Given the description of an element on the screen output the (x, y) to click on. 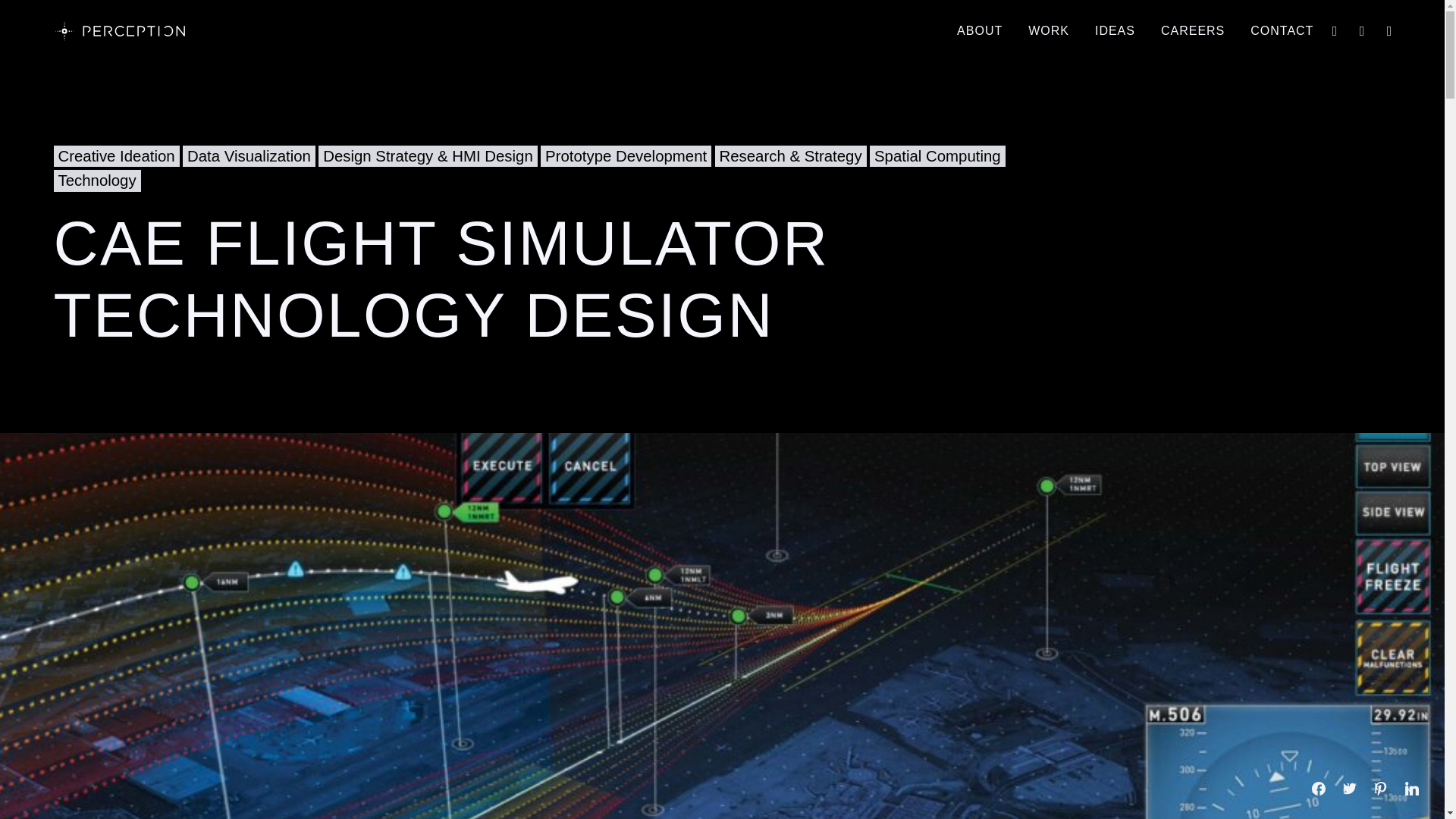
ABOUT (979, 31)
Spatial Computing (937, 156)
CAREERS (1192, 31)
Contact (1276, 31)
IDEAS (1114, 31)
About (979, 31)
CONTACT (1276, 31)
Data Visualization (249, 156)
WORK (1048, 31)
Technology (95, 179)
Work (1048, 31)
Prototype Development (625, 156)
Creative Ideation (115, 156)
Careers (1192, 31)
Ideas (1114, 31)
